Given the description of an element on the screen output the (x, y) to click on. 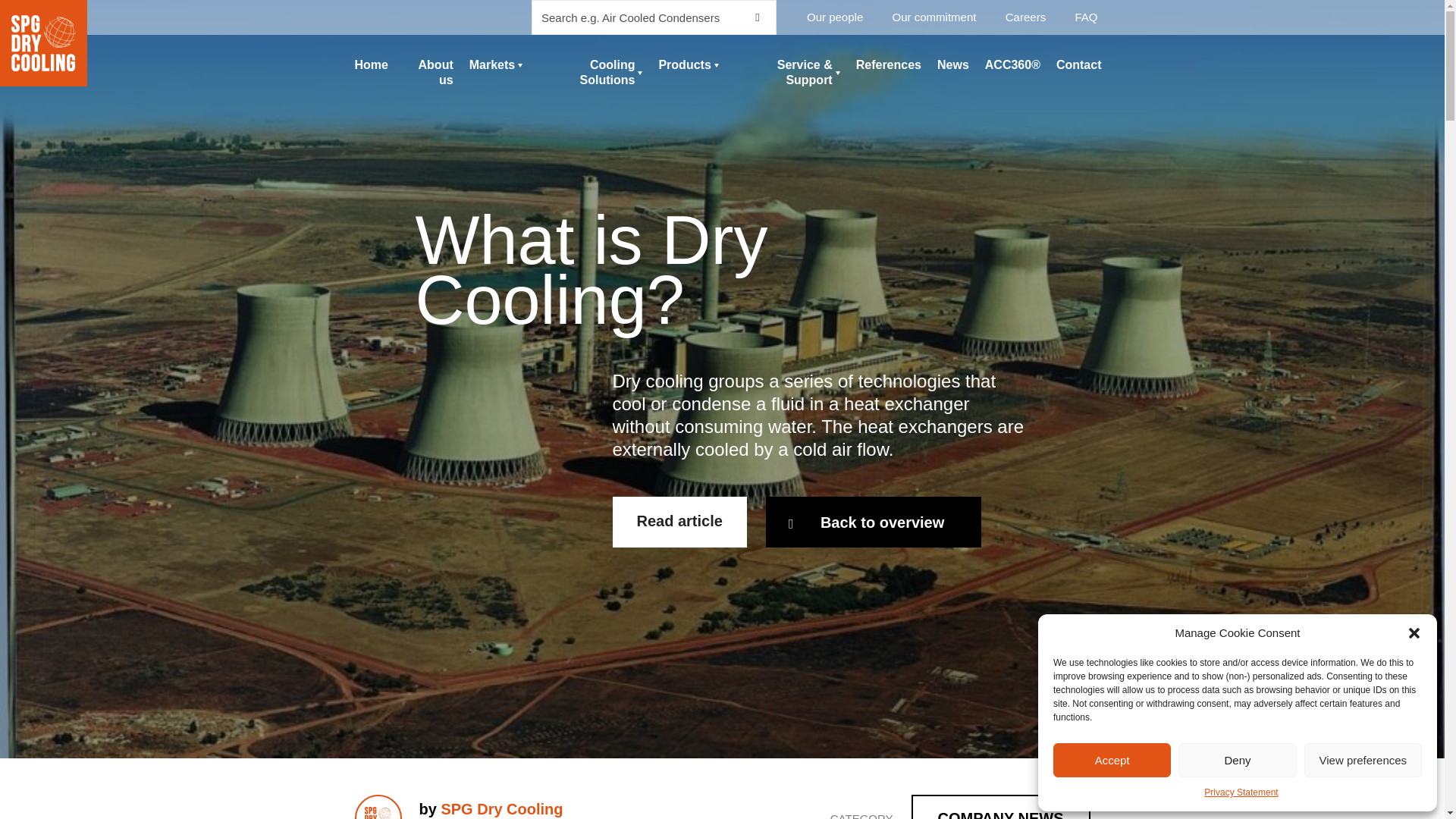
Deny (1236, 759)
View preferences (1363, 759)
Type and press Enter to search. (653, 17)
About us (428, 72)
Our people (834, 16)
FAQ (1085, 16)
Home (371, 64)
Read article (679, 521)
Privacy Statement (1241, 792)
Accept (1111, 759)
Our commitment (934, 16)
Send (24, 12)
Careers (1025, 16)
